Given the description of an element on the screen output the (x, y) to click on. 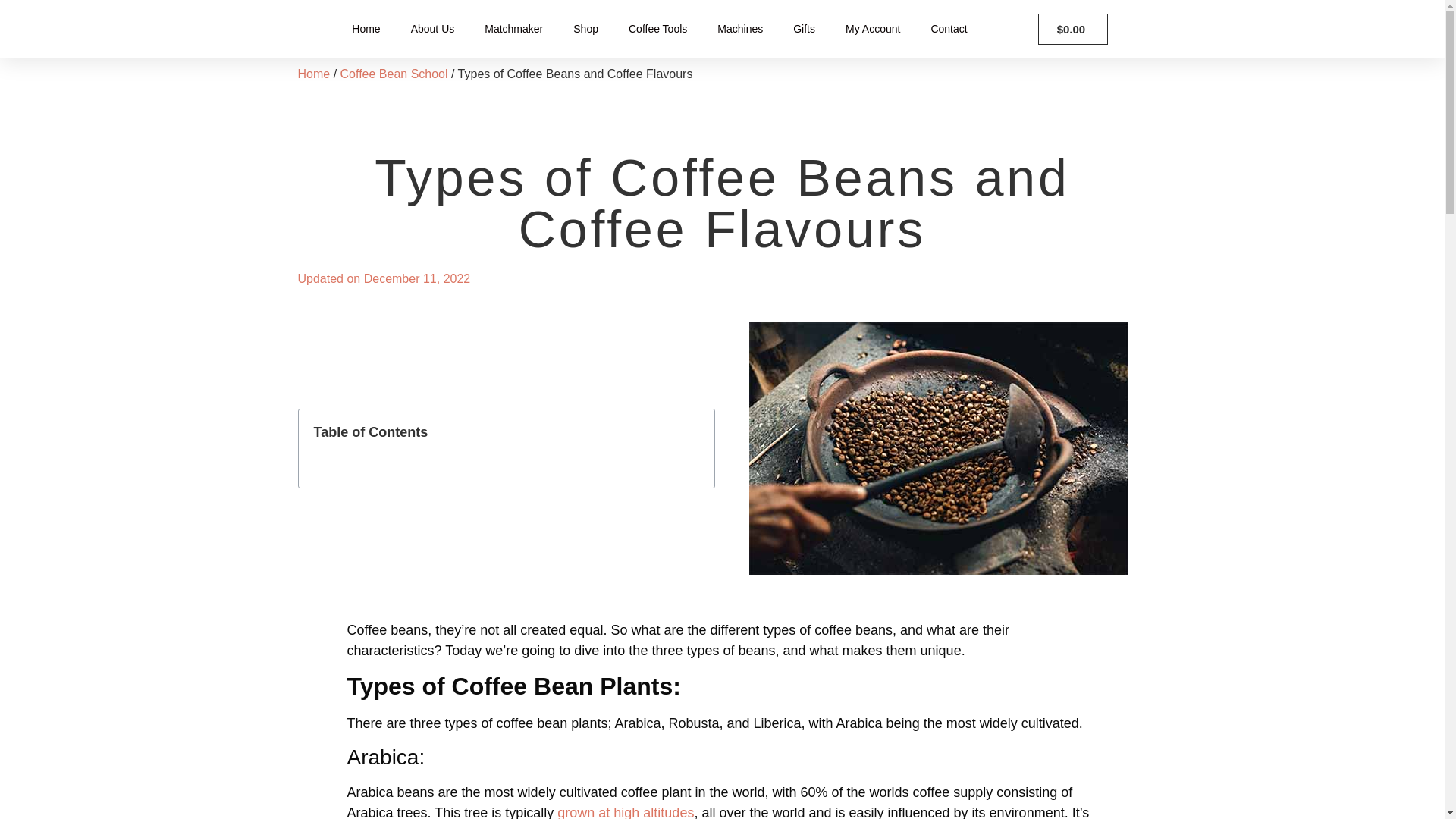
My Account (872, 28)
Machines (739, 28)
Gifts (803, 28)
Matchmaker (512, 28)
About Us (433, 28)
Shop (584, 28)
Home (313, 73)
Home (365, 28)
Coffee Bean School (394, 73)
Contact (948, 28)
Coffee Tools (656, 28)
